Given the description of an element on the screen output the (x, y) to click on. 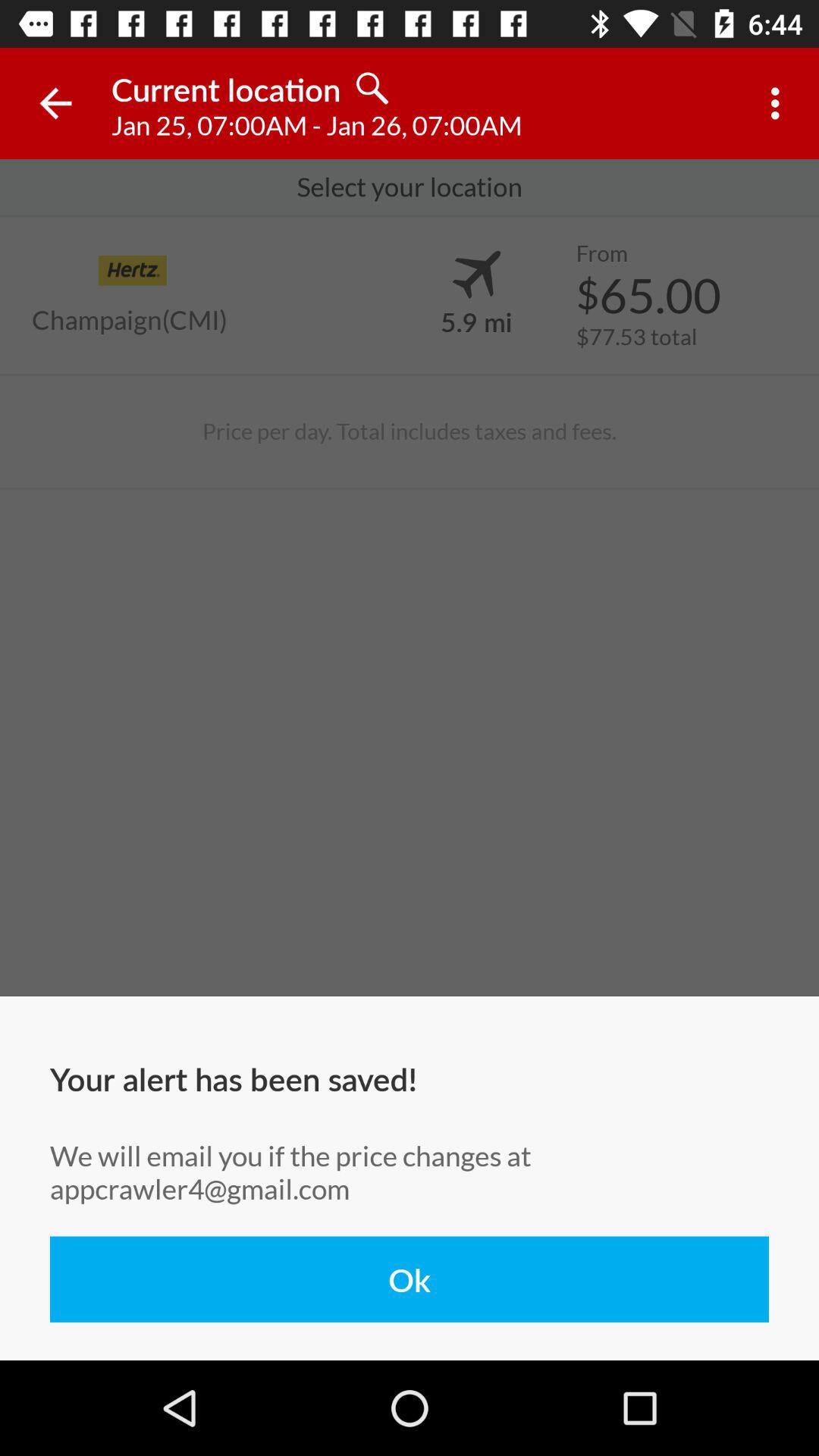
choose item next to the $65.00 (475, 321)
